Given the description of an element on the screen output the (x, y) to click on. 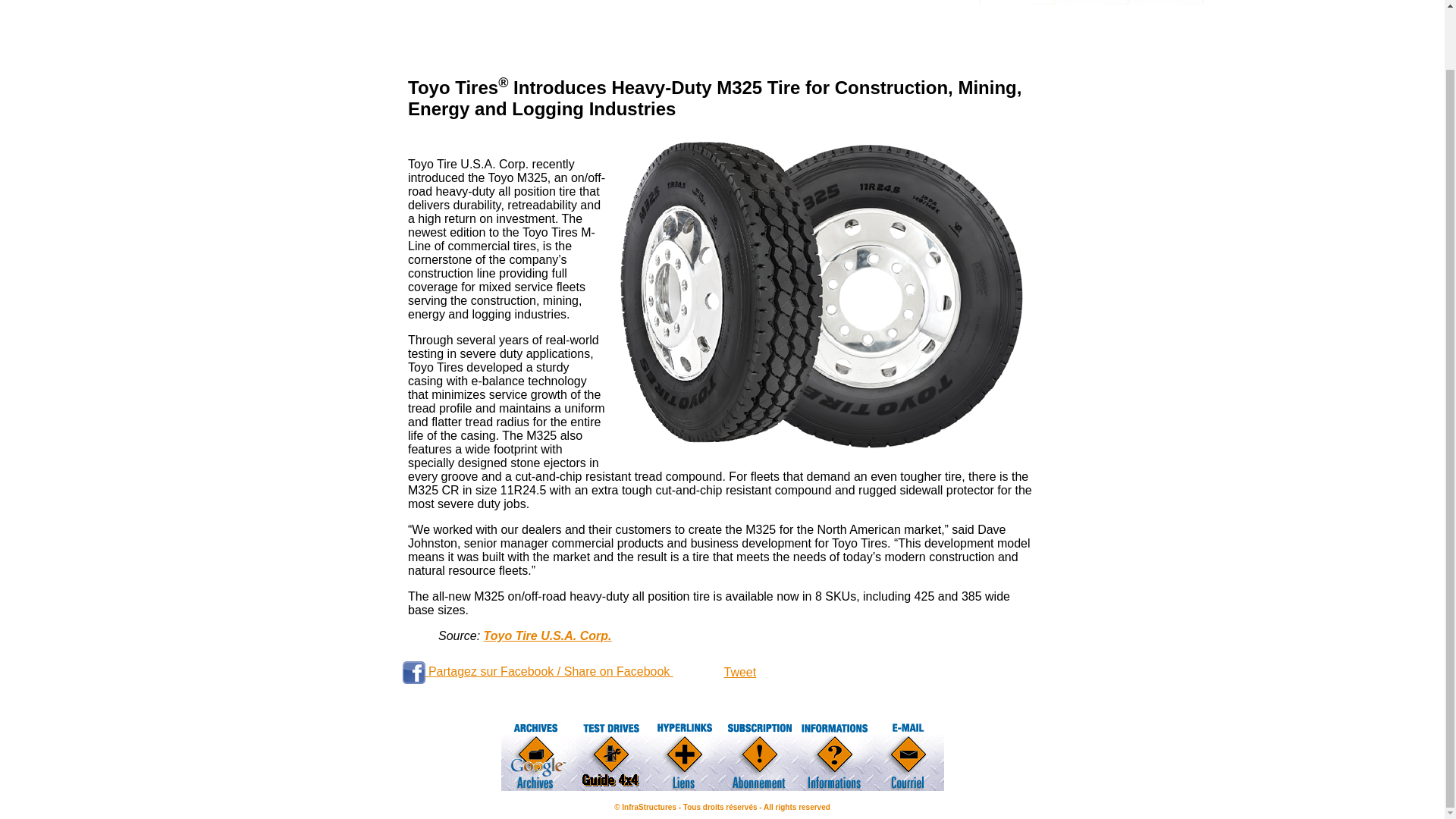
Tweet (739, 671)
Toyo Tire U.S.A. Corp. (547, 635)
